Given the description of an element on the screen output the (x, y) to click on. 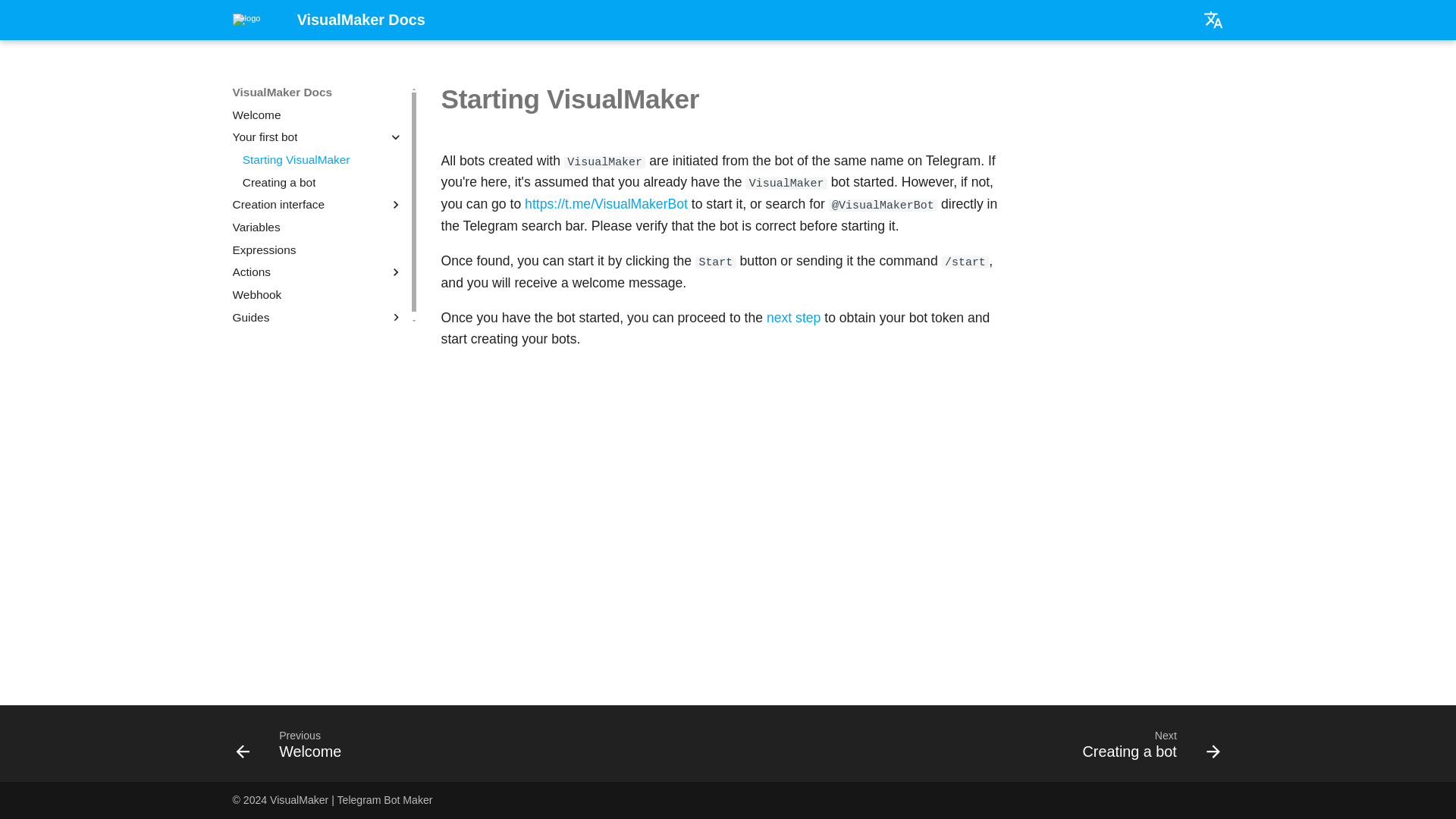
Guides (317, 317)
Starting VisualMaker (323, 159)
Expressions (317, 249)
Creation interface (317, 204)
Welcome (317, 114)
VisualMaker Docs (251, 20)
Creating a bot (293, 748)
Webhook (323, 182)
Actions (317, 294)
next step (1145, 748)
Variables (317, 272)
